Given the description of an element on the screen output the (x, y) to click on. 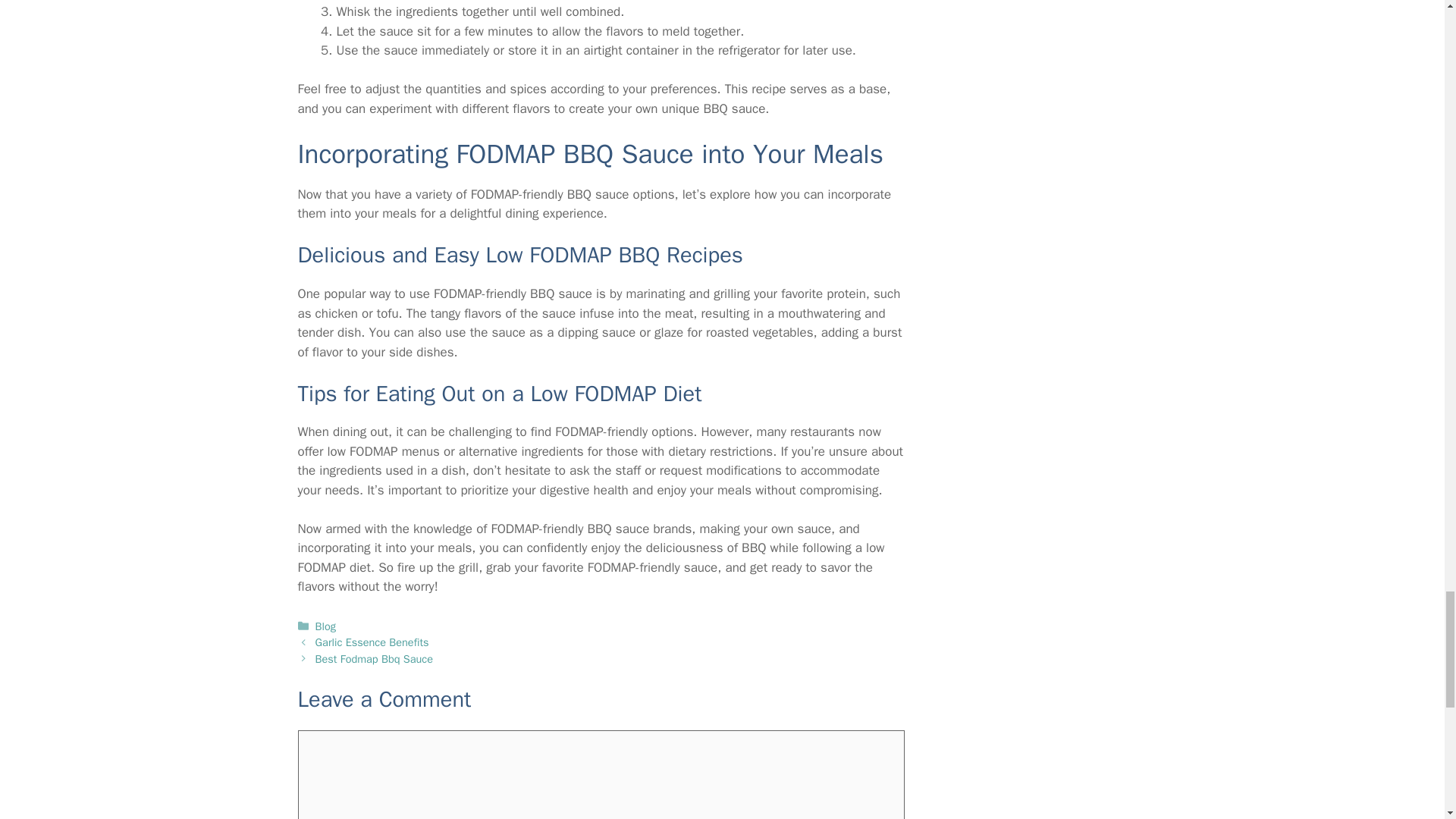
Blog (325, 626)
